Given the description of an element on the screen output the (x, y) to click on. 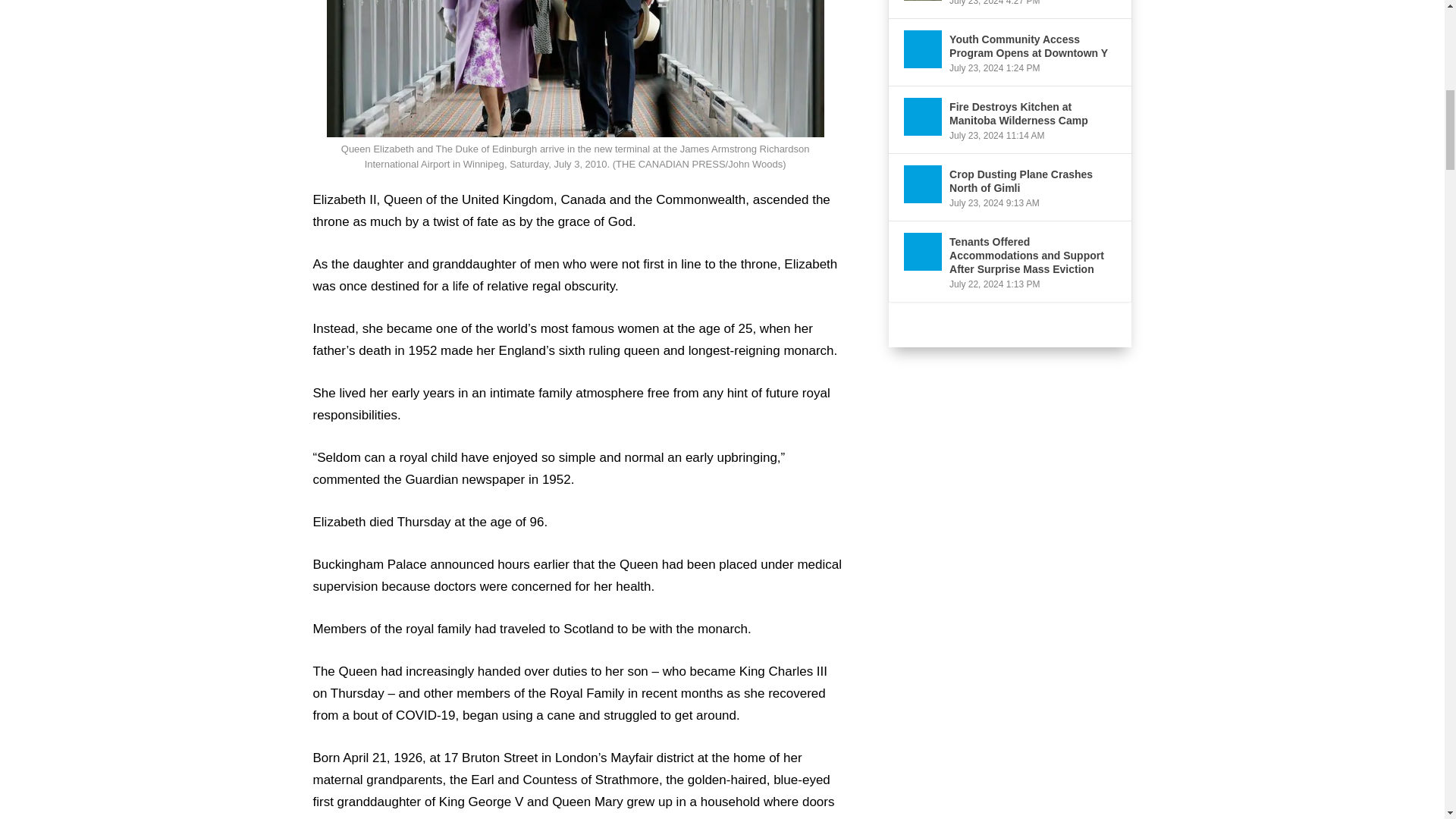
Youth Community Access Program Opens at Downtown Y (923, 48)
Crop Dusting Plane Crashes North of Gimli (923, 184)
Fire Destroys Kitchen at Manitoba Wilderness Camp (923, 116)
